Given the description of an element on the screen output the (x, y) to click on. 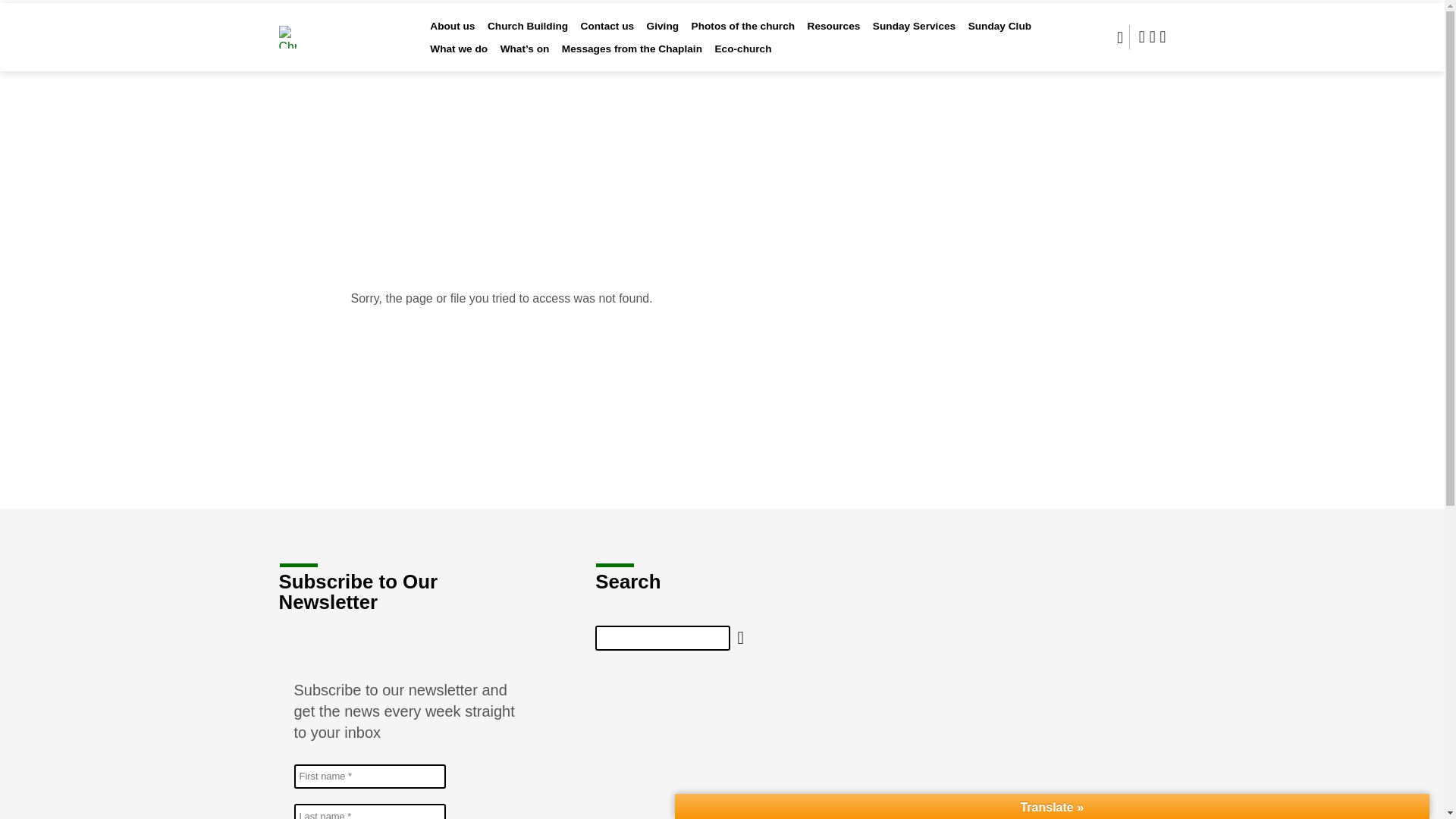
Sunday Services (913, 35)
Messages from the Chaplain (631, 58)
About us (451, 35)
First name (369, 776)
Resources (834, 35)
Contact us (607, 35)
Eco-church (742, 58)
Church Building (527, 35)
What we do (458, 58)
Photos of the church (742, 35)
